Given the description of an element on the screen output the (x, y) to click on. 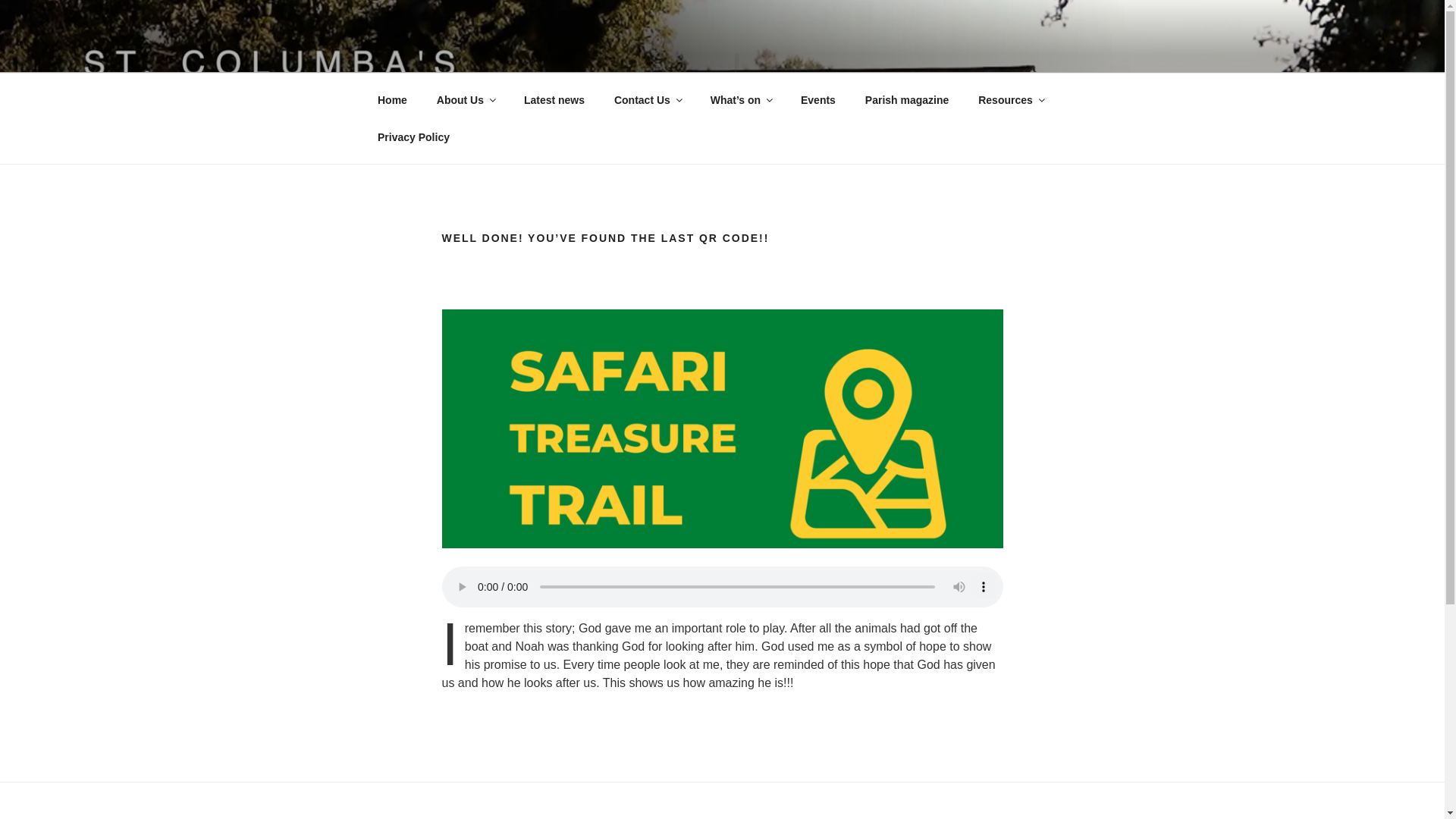
Privacy Policy (413, 136)
Events (817, 99)
About Us (464, 99)
Resources (1011, 99)
Parish magazine (906, 99)
Contact Us (646, 99)
Home (392, 99)
Latest news (553, 99)
ST COLUMBA'S DERRYVOLGIE (610, 52)
